Given the description of an element on the screen output the (x, y) to click on. 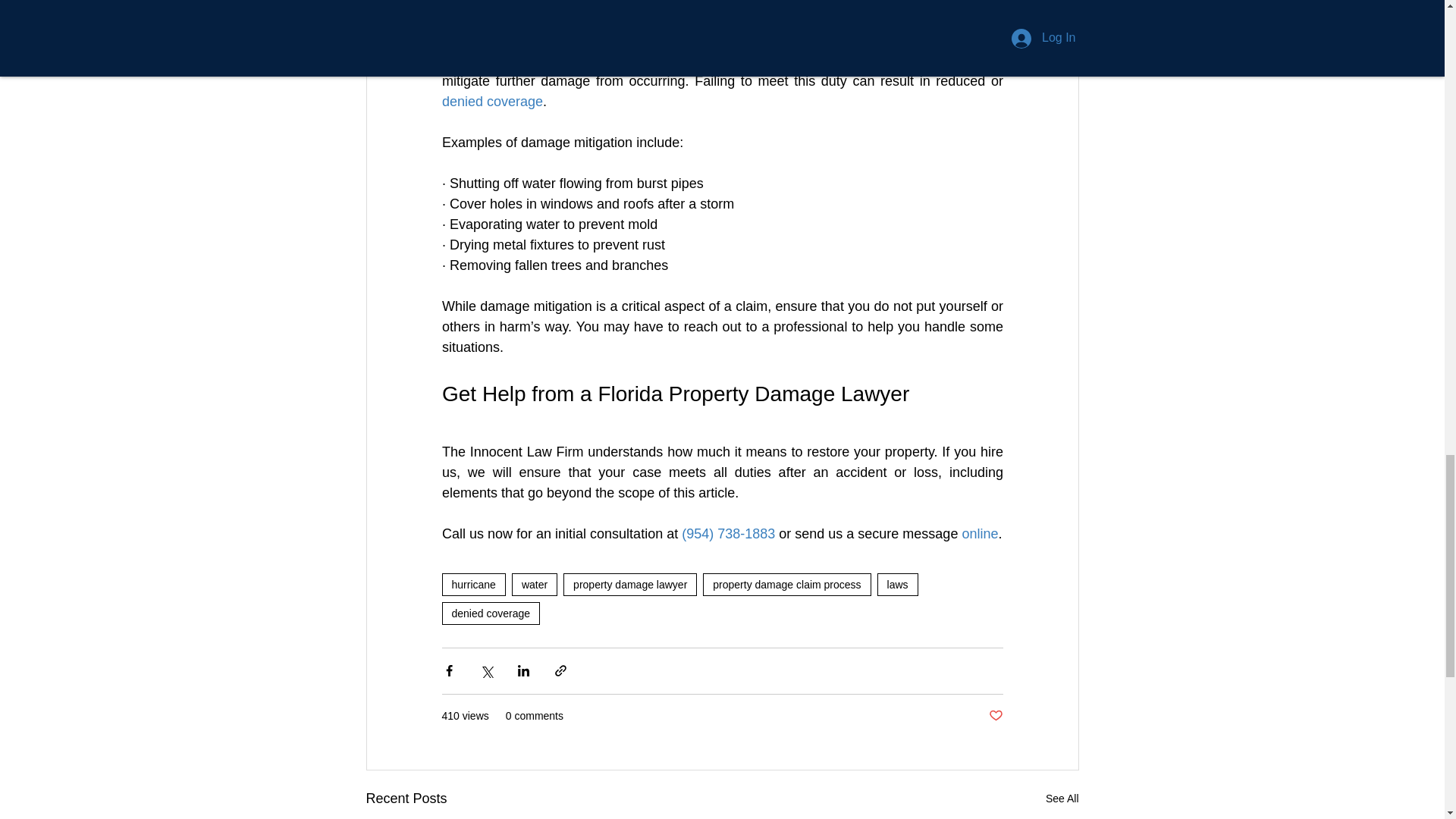
property damage claim process (786, 584)
property damage lawyer (630, 584)
denied coverage (491, 101)
Post not marked as liked (995, 715)
hurricane (473, 584)
See All (1061, 798)
denied coverage (490, 612)
online (978, 533)
water (534, 584)
laws (897, 584)
